Given the description of an element on the screen output the (x, y) to click on. 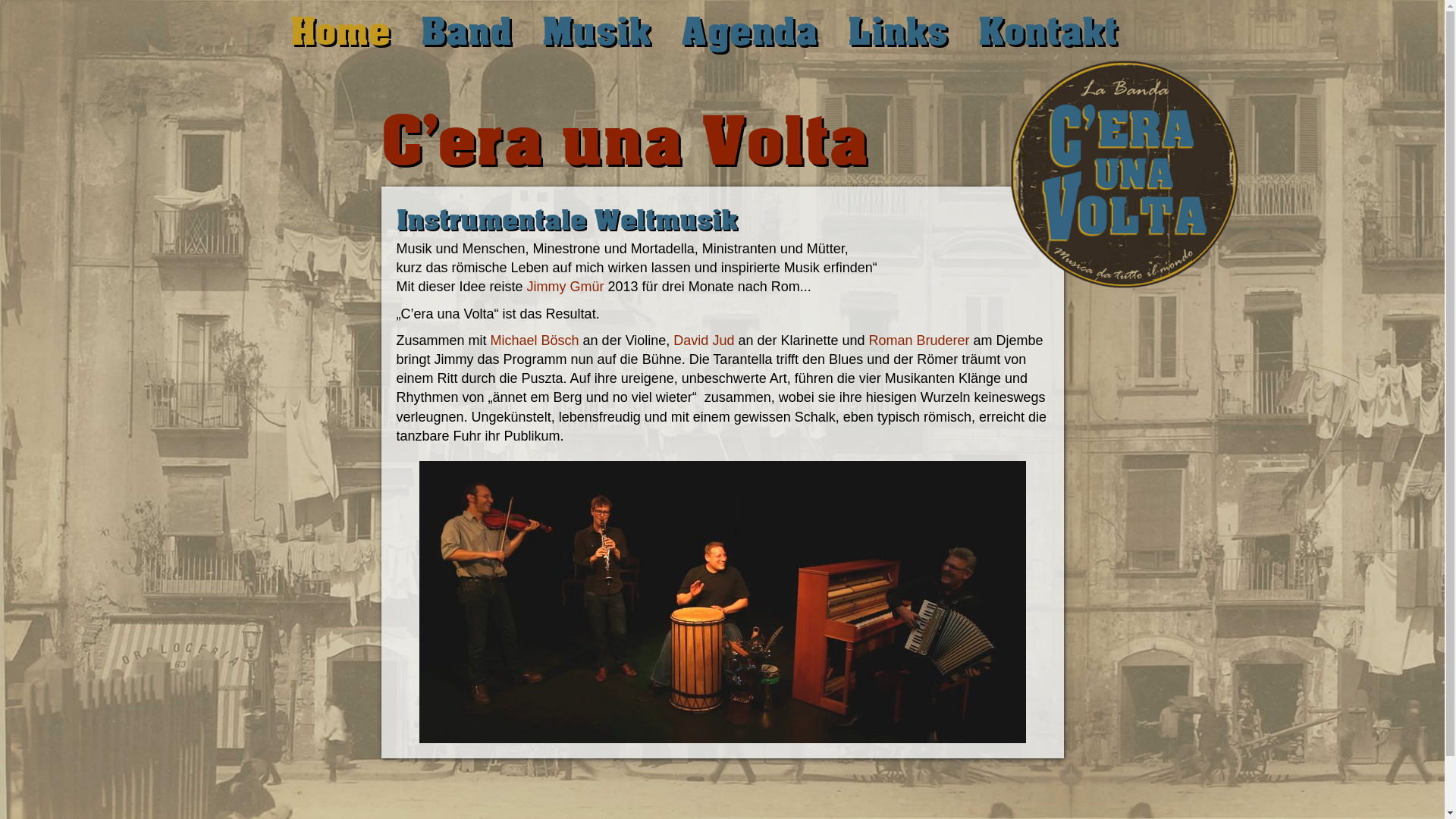
Kontakt Element type: text (1047, 30)
Musik Element type: text (595, 30)
La Banda Element type: hover (721, 602)
Band Element type: text (465, 30)
Home Element type: text (339, 30)
Links Element type: text (897, 30)
David Jud Element type: text (703, 340)
HOME c'era una volta Element type: hover (1123, 174)
Roman Bruderer Element type: text (919, 340)
Agenda Element type: text (748, 30)
